Given the description of an element on the screen output the (x, y) to click on. 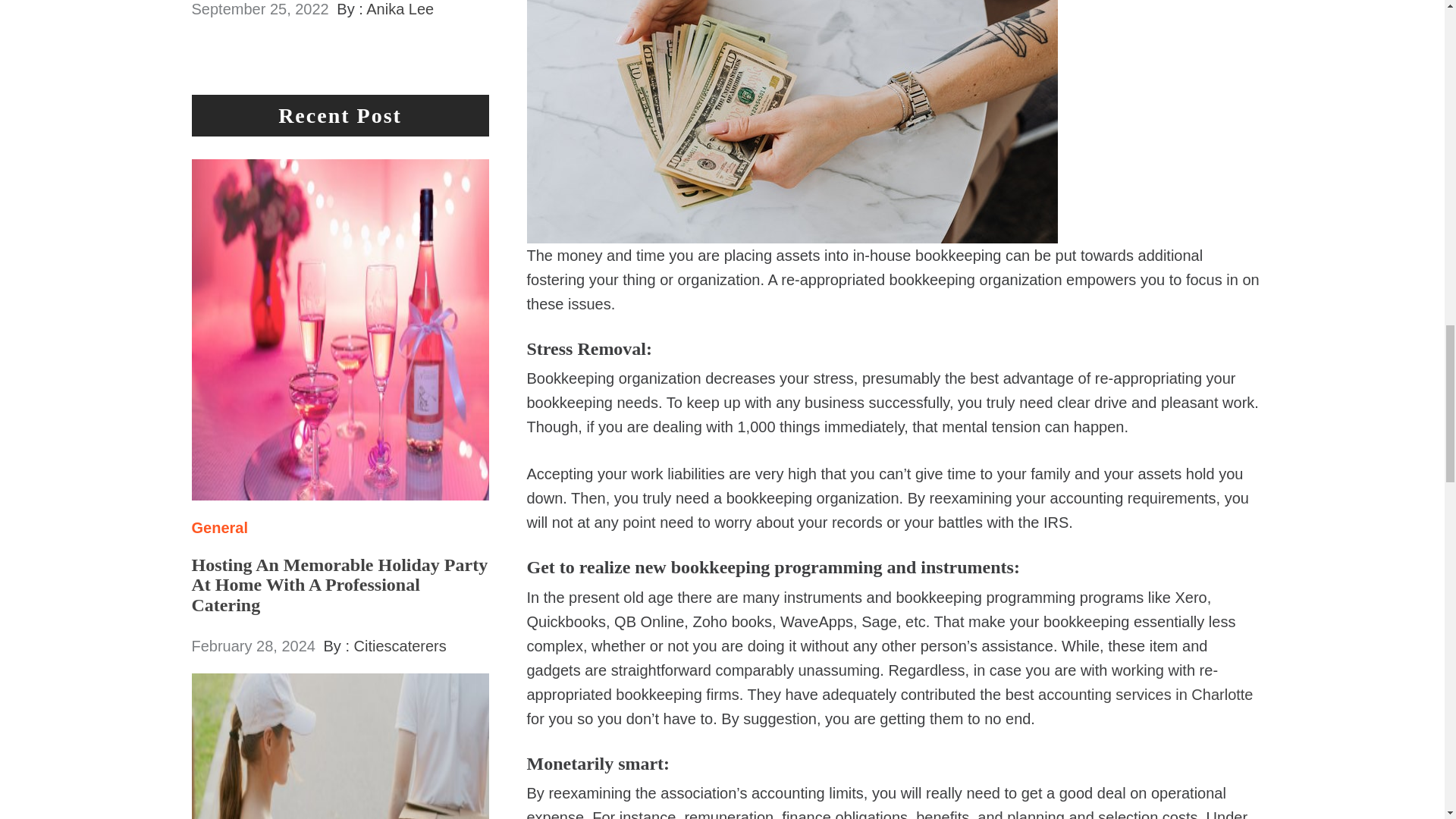
accounting services in Charlotte (1145, 694)
Anika Lee (399, 8)
September 25, 2022 (259, 8)
